Given the description of an element on the screen output the (x, y) to click on. 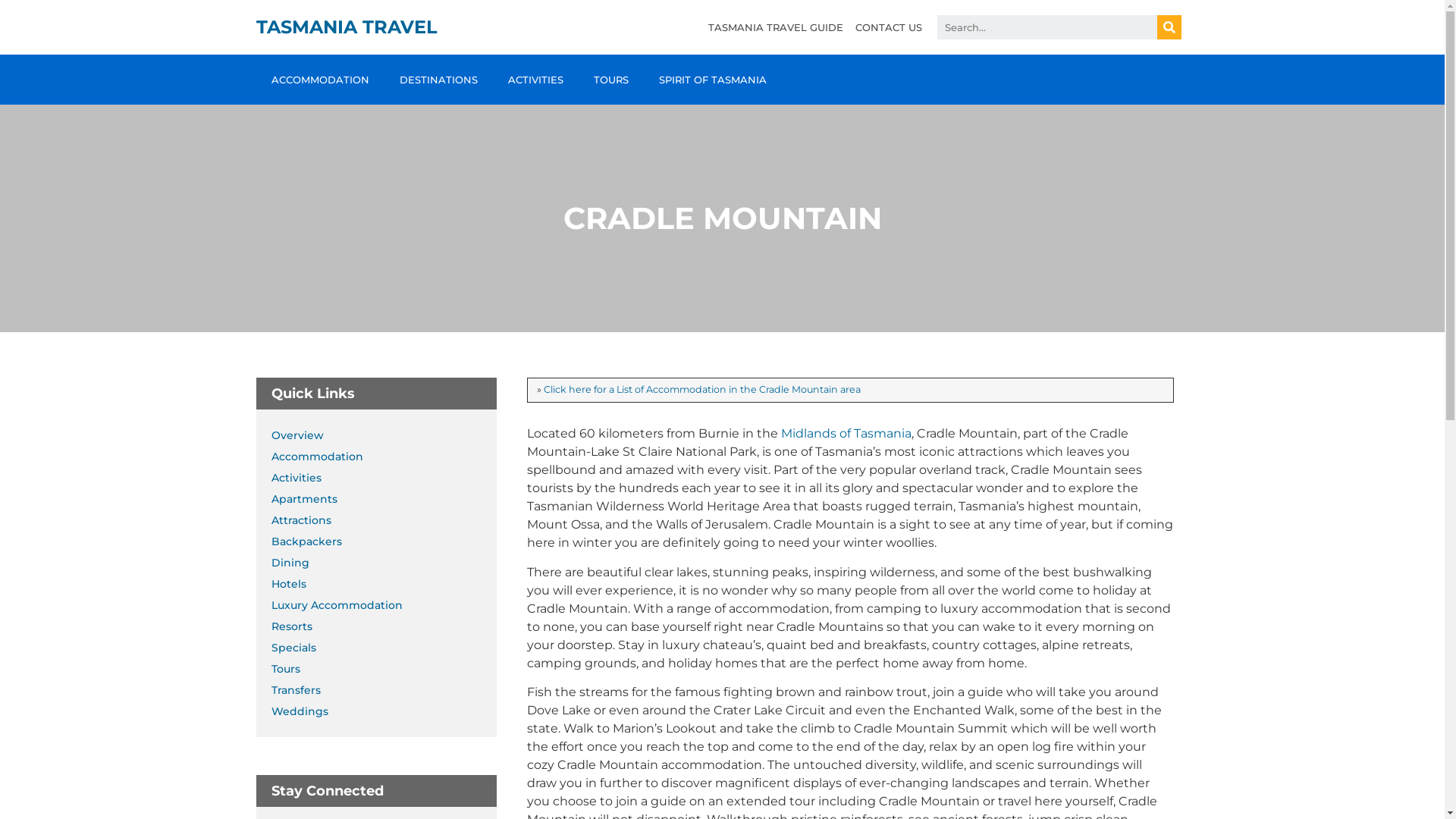
Activities Element type: text (384, 477)
Tours Element type: text (384, 668)
Accommodation Element type: text (384, 456)
Apartments Element type: text (384, 498)
TOURS Element type: text (610, 79)
DESTINATIONS Element type: text (437, 79)
Luxury Accommodation Element type: text (384, 604)
ACCOMMODATION Element type: text (320, 79)
Attractions Element type: text (384, 519)
Dining Element type: text (384, 562)
Hotels Element type: text (384, 583)
Overview Element type: text (384, 434)
Search Element type: hover (1047, 27)
Resorts Element type: text (384, 626)
SPIRIT OF TASMANIA Element type: text (712, 79)
ACTIVITIES Element type: text (535, 79)
Weddings Element type: text (384, 710)
Midlands of Tasmania Element type: text (846, 433)
Backpackers Element type: text (384, 541)
Search Element type: hover (1169, 27)
TASMANIA TRAVEL Element type: text (346, 26)
Specials Element type: text (384, 647)
Transfers Element type: text (384, 689)
